Given the description of an element on the screen output the (x, y) to click on. 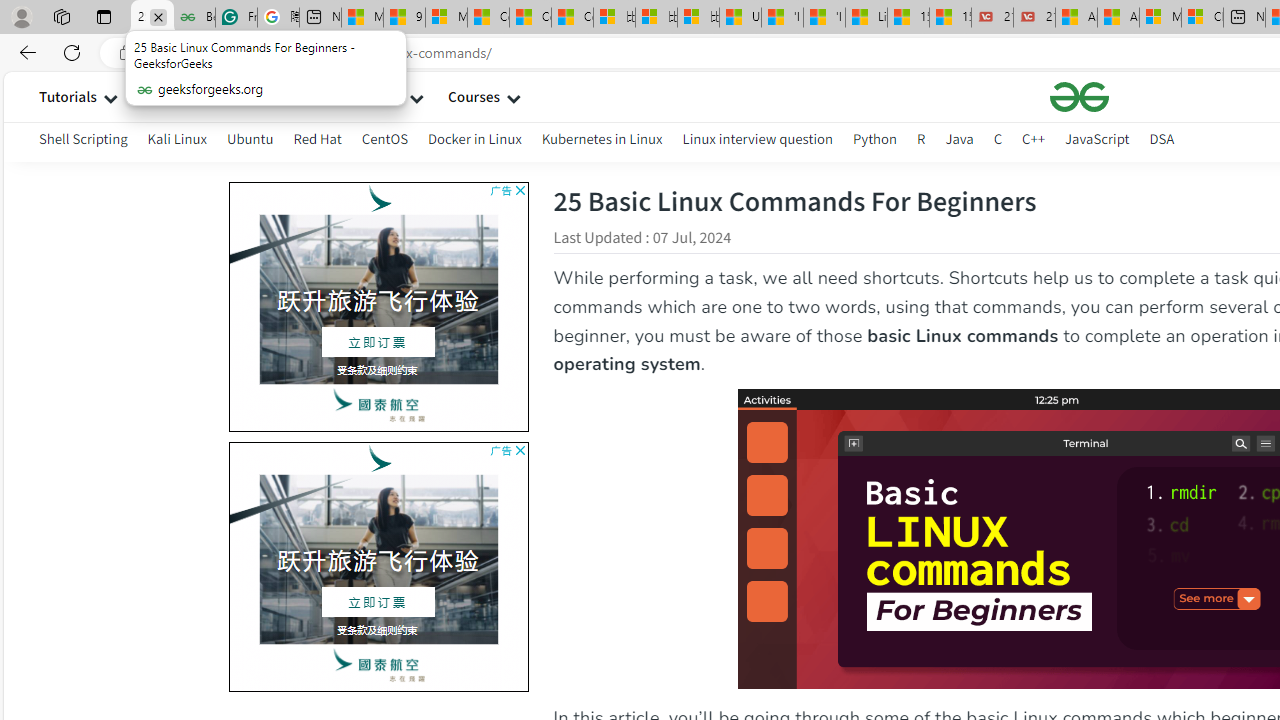
C (997, 142)
Logo (1079, 96)
Tutorials (67, 96)
Lifestyle - MSN (866, 17)
Docker in Linux (474, 138)
AutomationID: bg5 (377, 559)
Red Hat (317, 138)
Ubuntu (250, 142)
Linux interview question (757, 142)
Data Science (254, 96)
